Given the description of an element on the screen output the (x, y) to click on. 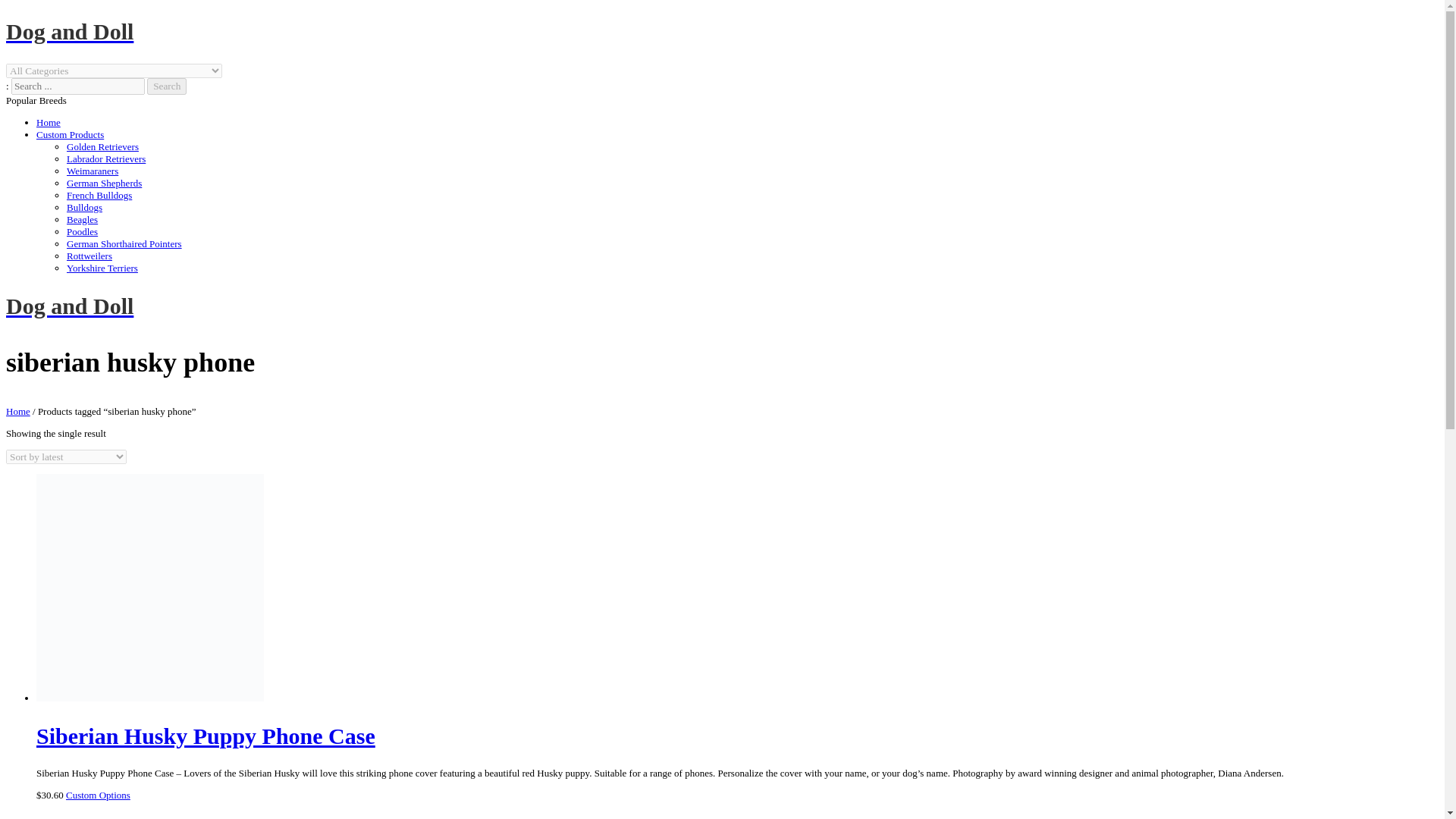
Custom Products (69, 134)
Poodles (81, 231)
Yorkshire Terriers (102, 267)
Labrador Retrievers (105, 158)
Weimaraners (91, 170)
French Bulldogs (99, 194)
Beagles (81, 219)
Bulldogs (83, 206)
German Shepherds (103, 183)
Golden Retrievers (102, 146)
Rottweilers (89, 255)
German Shorthaired Pointers (124, 243)
Search (166, 86)
Search (166, 86)
Search (166, 86)
